Given the description of an element on the screen output the (x, y) to click on. 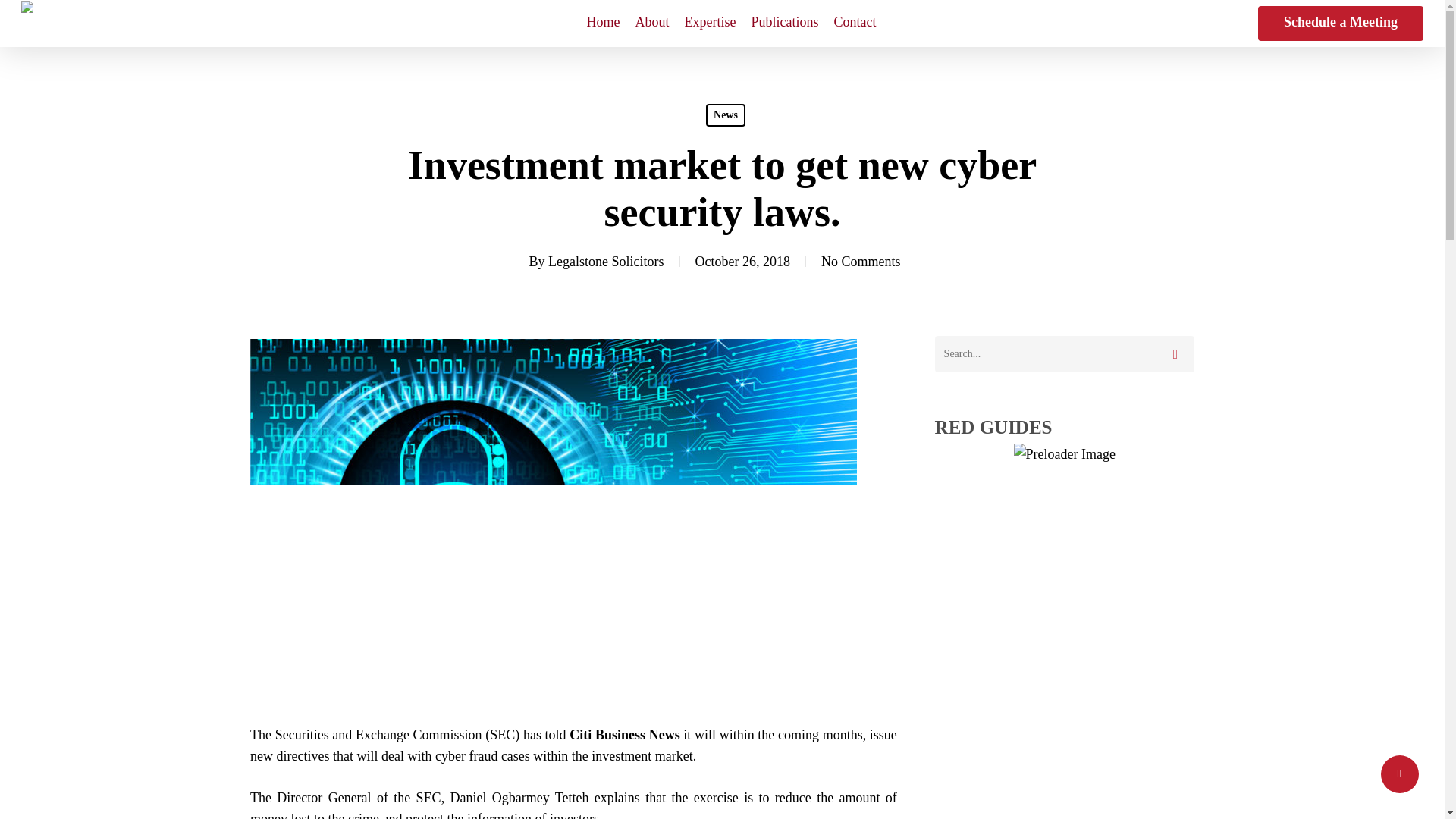
Search for: (1063, 353)
No Comments (861, 261)
About (652, 23)
News (725, 115)
Schedule a Meeting (1340, 22)
Expertise (710, 23)
Legalstone Solicitors (605, 261)
Home (603, 23)
Posts by Legalstone Solicitors (605, 261)
Contact (855, 23)
